Given the description of an element on the screen output the (x, y) to click on. 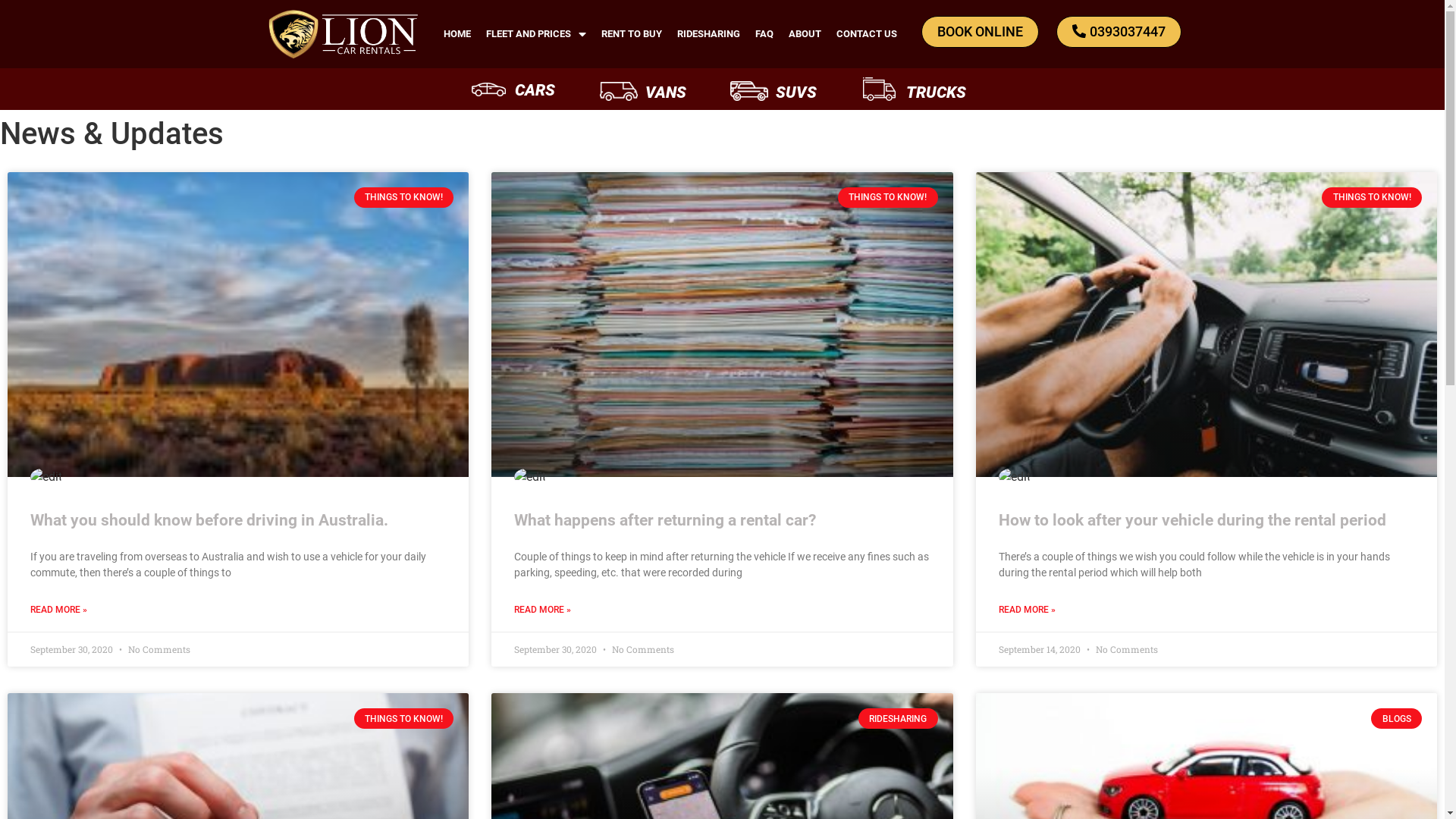
FAQ Element type: text (764, 33)
How to look after your vehicle during the rental period Element type: text (1192, 520)
FLEET AND PRICES Element type: text (536, 33)
BOOK ONLINE Element type: text (979, 31)
HOME Element type: text (456, 33)
ABOUT Element type: text (804, 33)
What you should know before driving in Australia. Element type: text (209, 520)
CONTACT US Element type: text (866, 33)
RIDESHARING Element type: text (708, 33)
What happens after returning a rental car? Element type: text (664, 520)
RENT TO BUY Element type: text (631, 33)
0393037447 Element type: text (1118, 31)
